Given the description of an element on the screen output the (x, y) to click on. 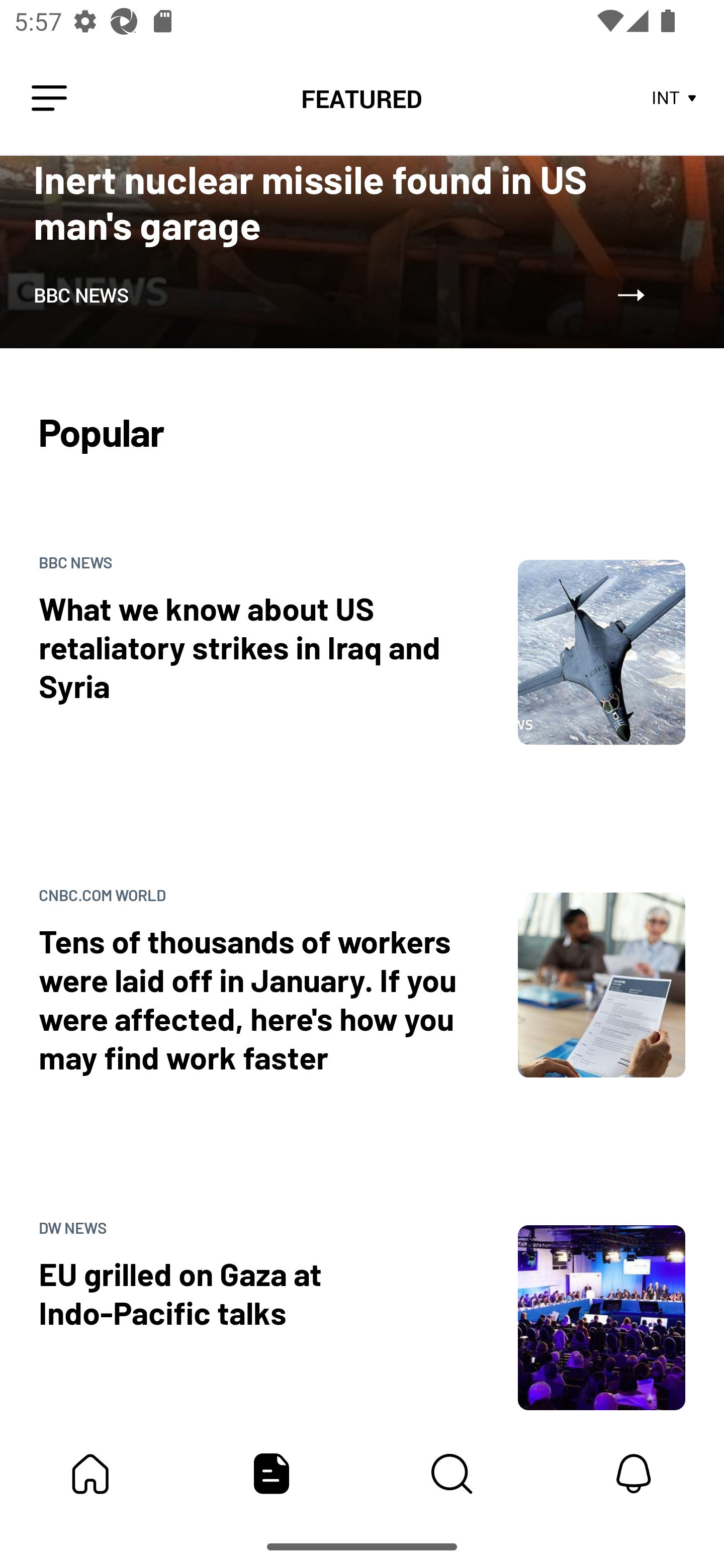
INT Store Area (674, 98)
Leading Icon (49, 98)
My Bundle (90, 1473)
Content Store (452, 1473)
Notifications (633, 1473)
